Given the description of an element on the screen output the (x, y) to click on. 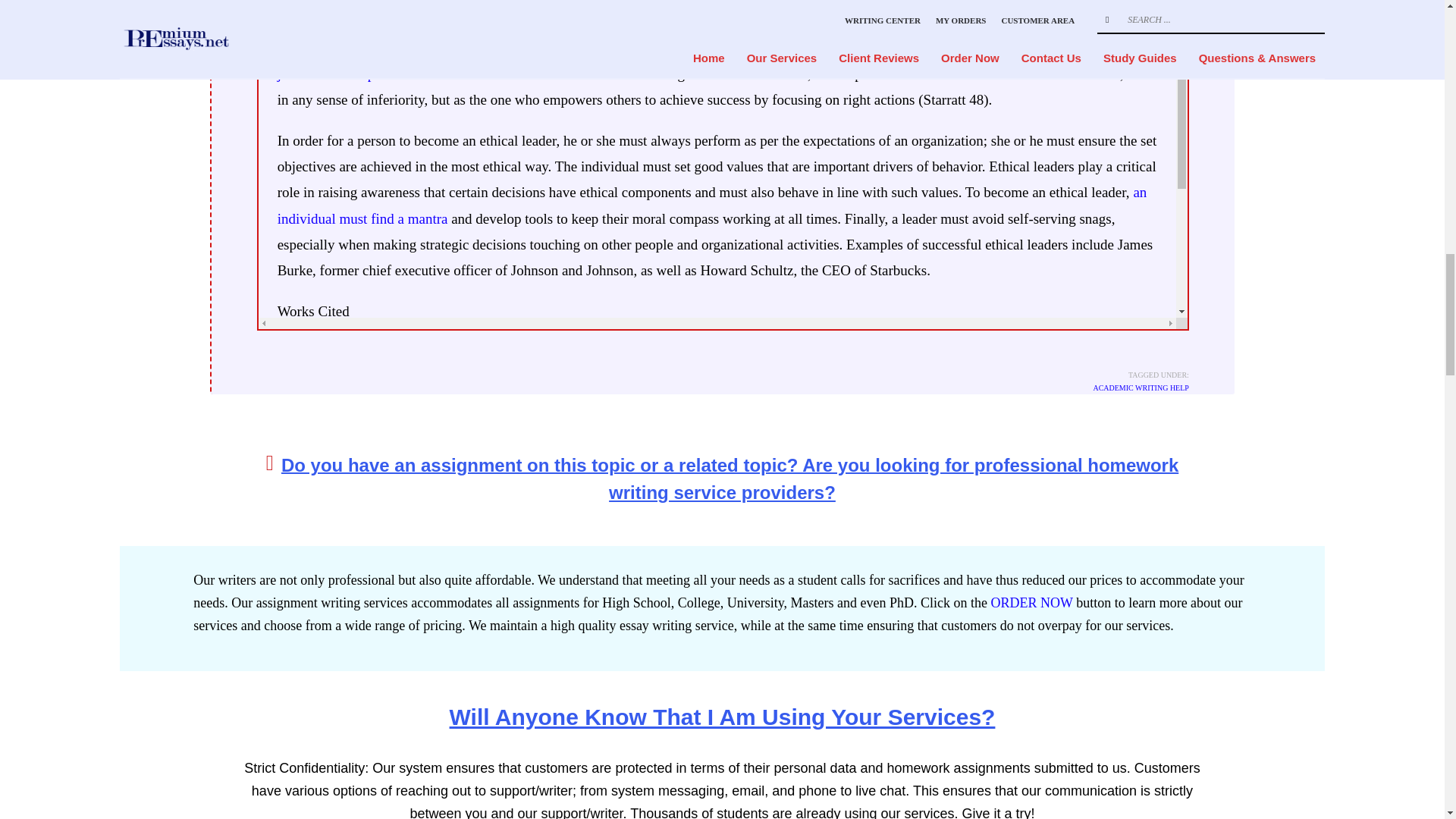
ORDER NOW (1030, 602)
an individual must find a mantra (712, 205)
justice and compassion which are instrumental (412, 73)
ACADEMIC WRITING HELP (1140, 388)
